Given the description of an element on the screen output the (x, y) to click on. 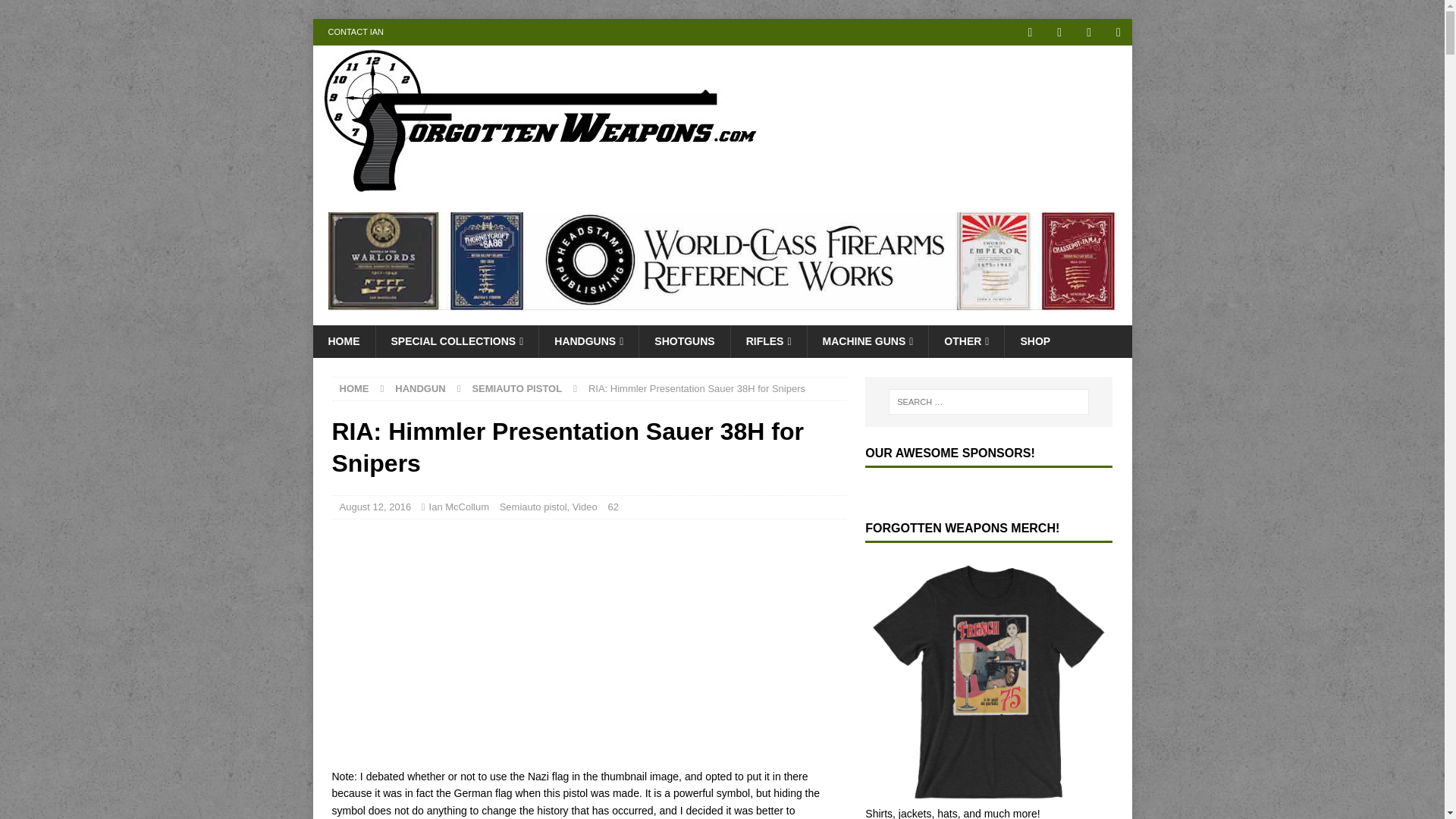
Home (354, 388)
Semiauto pistol (516, 388)
Forgotten Weapons (540, 188)
Himmler's Sniper Presentation Sauer 38H Pistol (521, 640)
CONTACT IAN (355, 31)
